Given the description of an element on the screen output the (x, y) to click on. 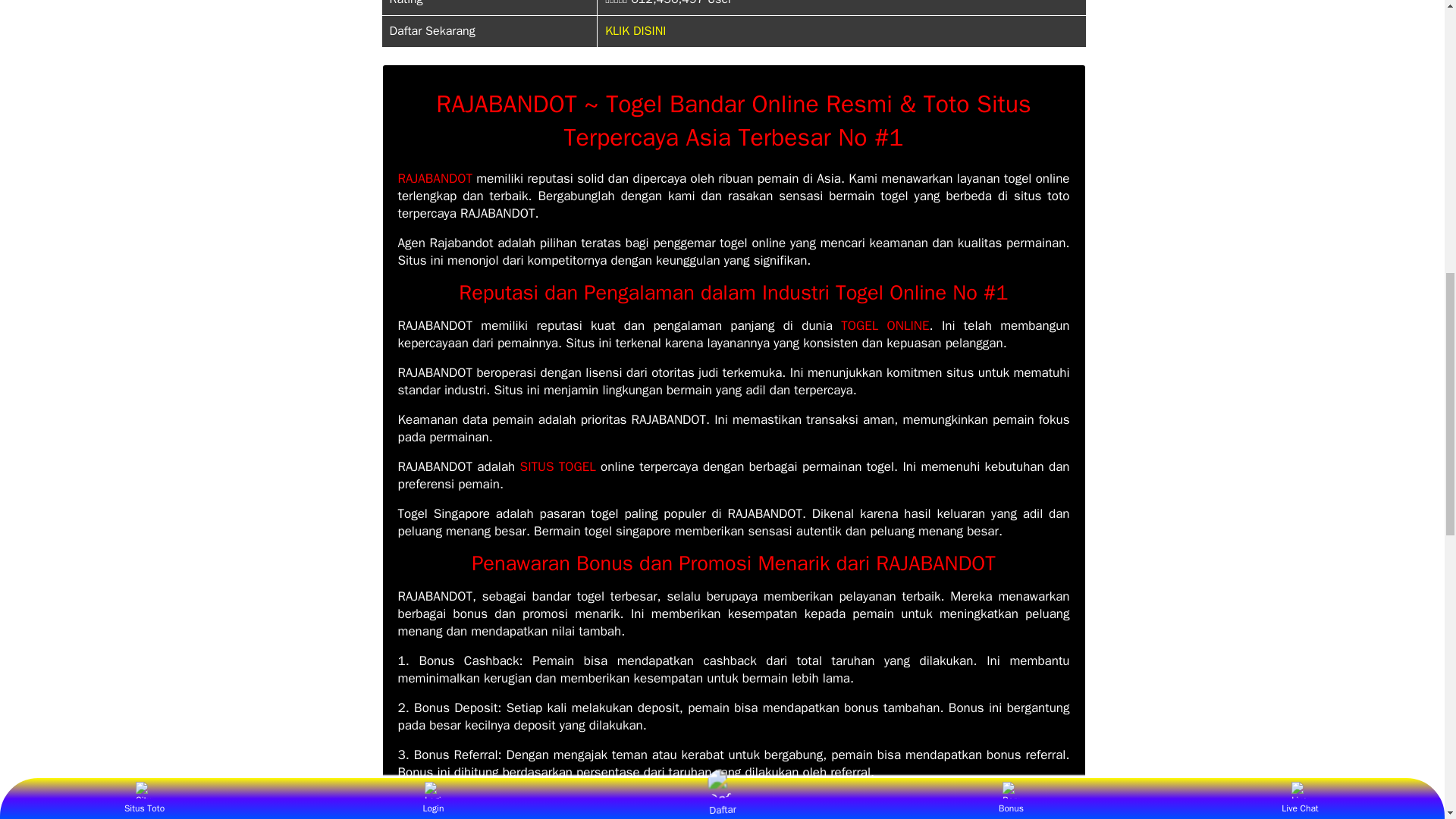
KLIK DISINI (635, 30)
TOGEL ONLINE (884, 325)
SITUS TOGEL (557, 466)
SITUS TOGEL (557, 466)
Rajabandot (434, 178)
TOGEL ONLINE (884, 325)
RAJABANDOT (434, 178)
